Given the description of an element on the screen output the (x, y) to click on. 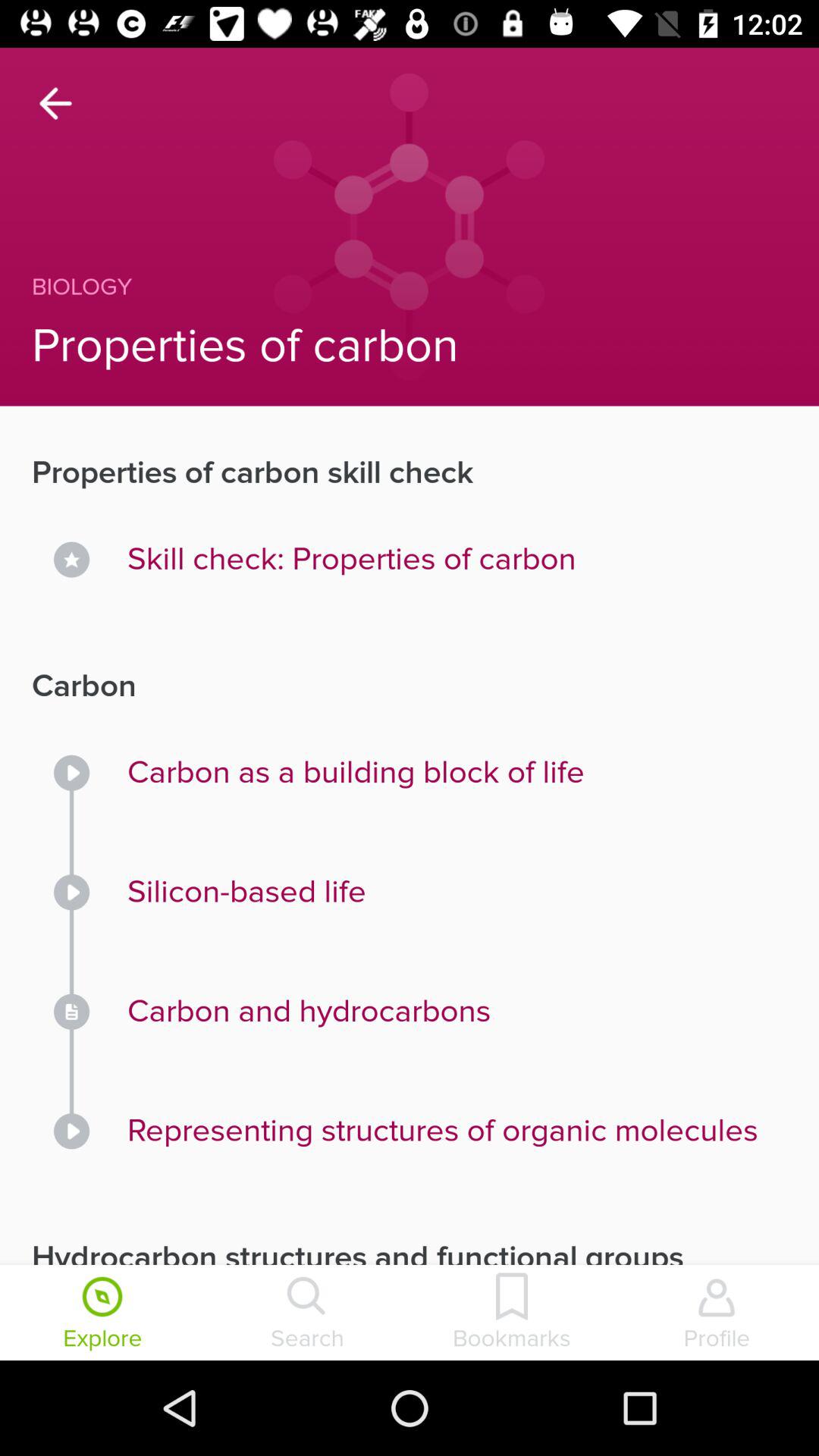
scroll until the profile icon (716, 1314)
